Given the description of an element on the screen output the (x, y) to click on. 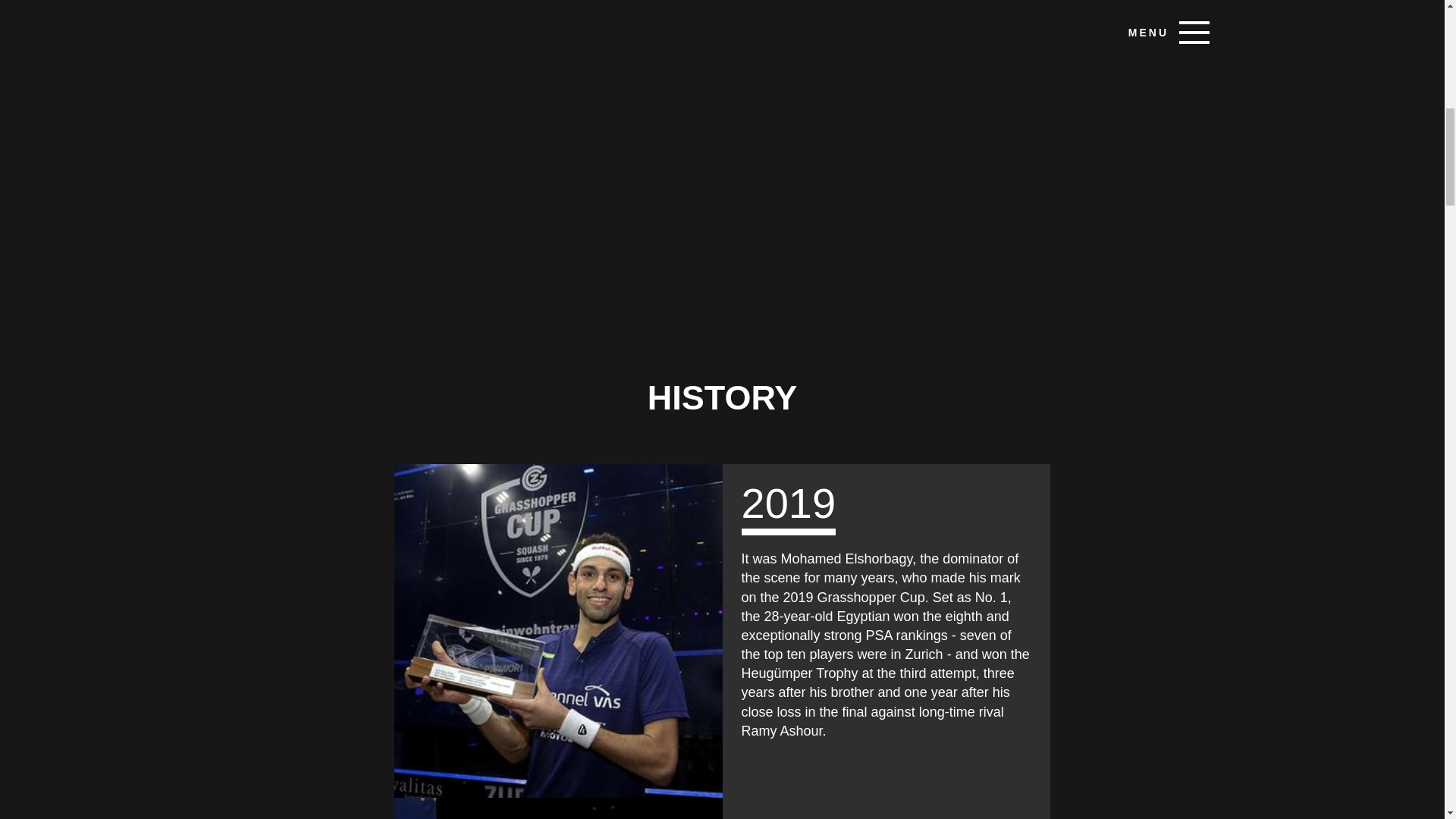
2019 (558, 630)
2018 (558, 808)
